Given the description of an element on the screen output the (x, y) to click on. 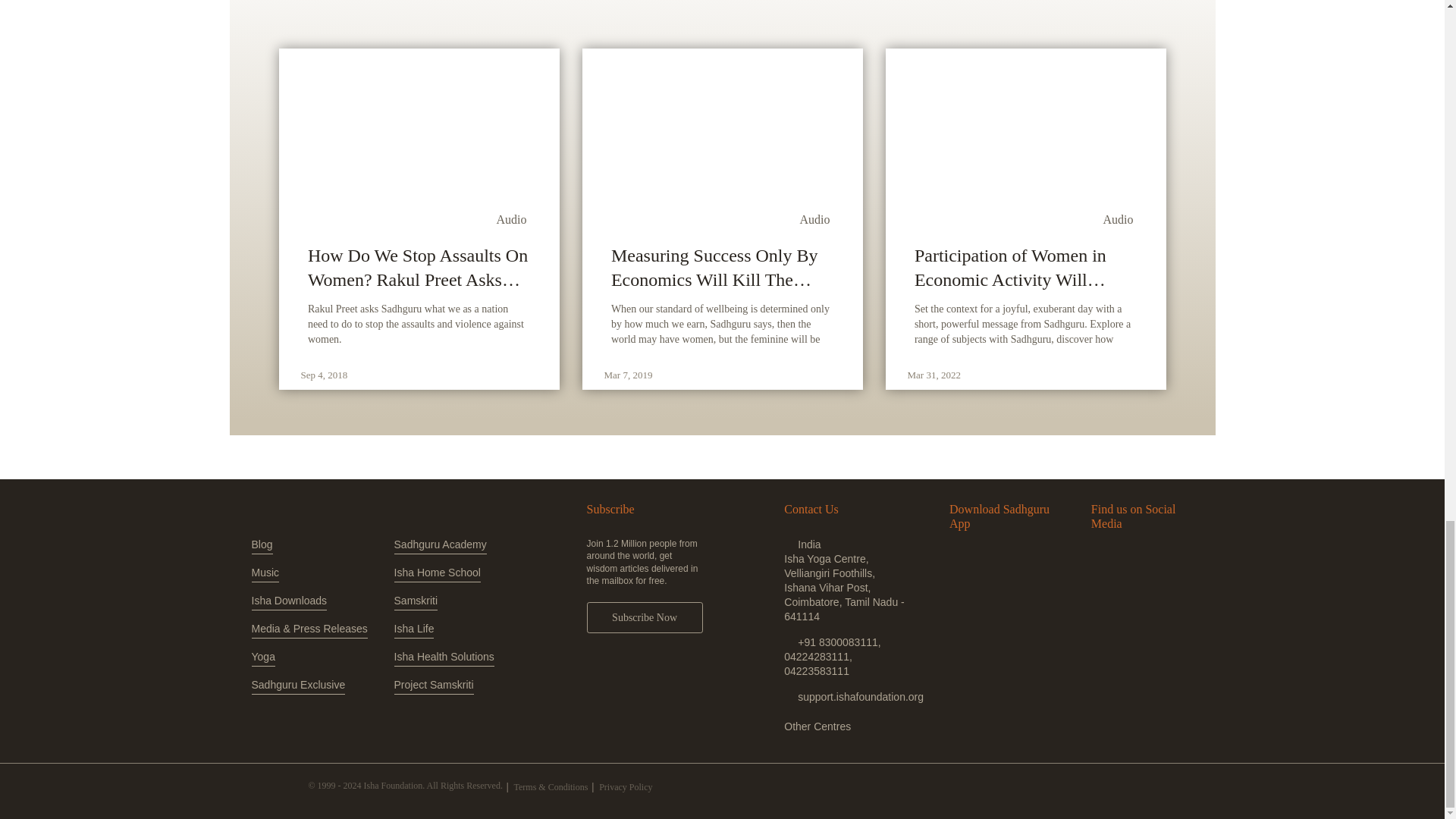
How Do We Stop Assaults On Women? Rakul Preet Asks Sadhguru (418, 267)
Measuring Success Only By Economics Will Kill The Feminine (721, 267)
